Given the description of an element on the screen output the (x, y) to click on. 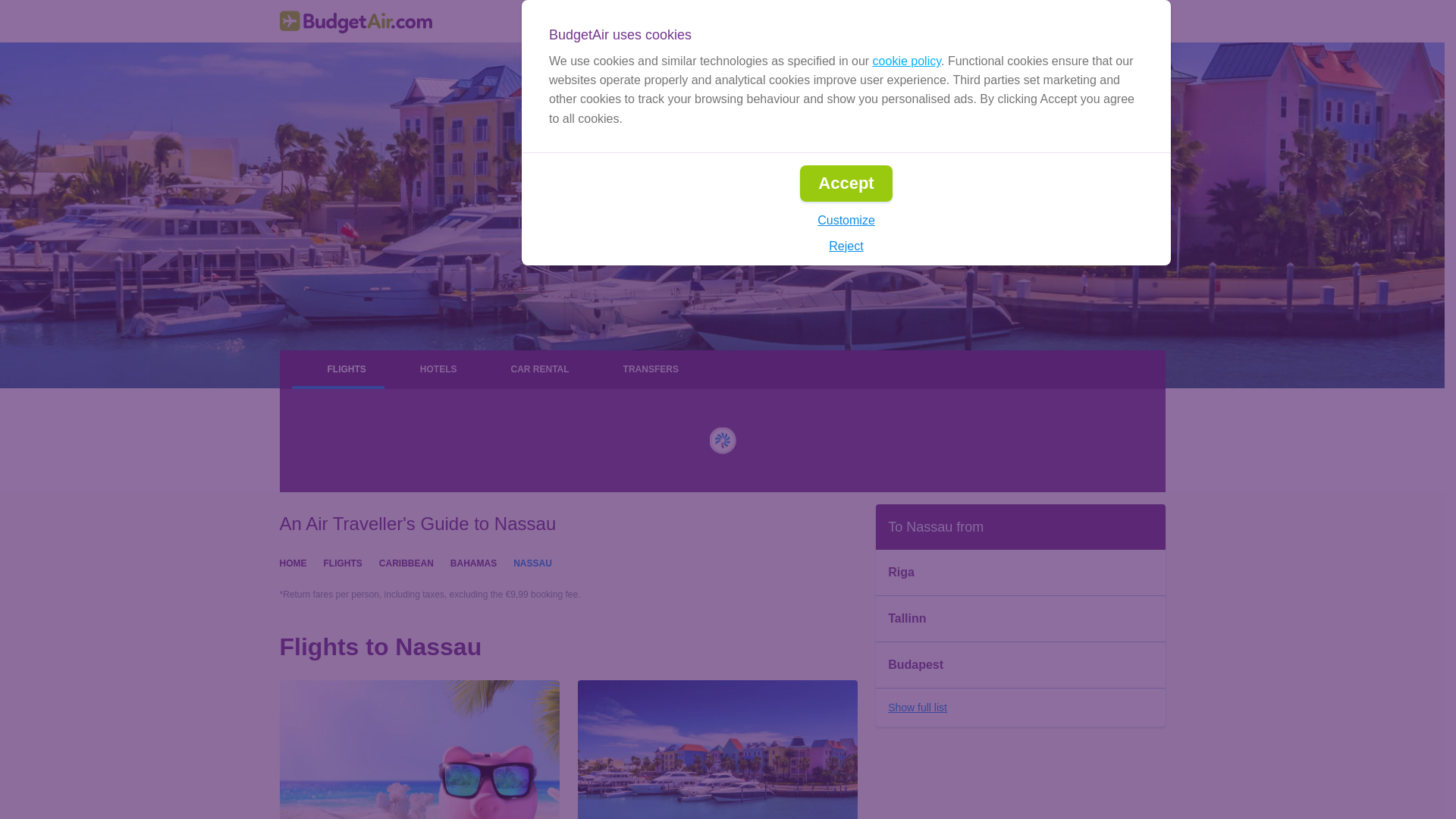
CARIBBEAN (405, 562)
HOME (292, 562)
Accept (845, 183)
FLIGHTS (342, 562)
English (902, 21)
BAHAMAS (472, 562)
cookie policy (906, 60)
My Account (1116, 21)
